Given the description of an element on the screen output the (x, y) to click on. 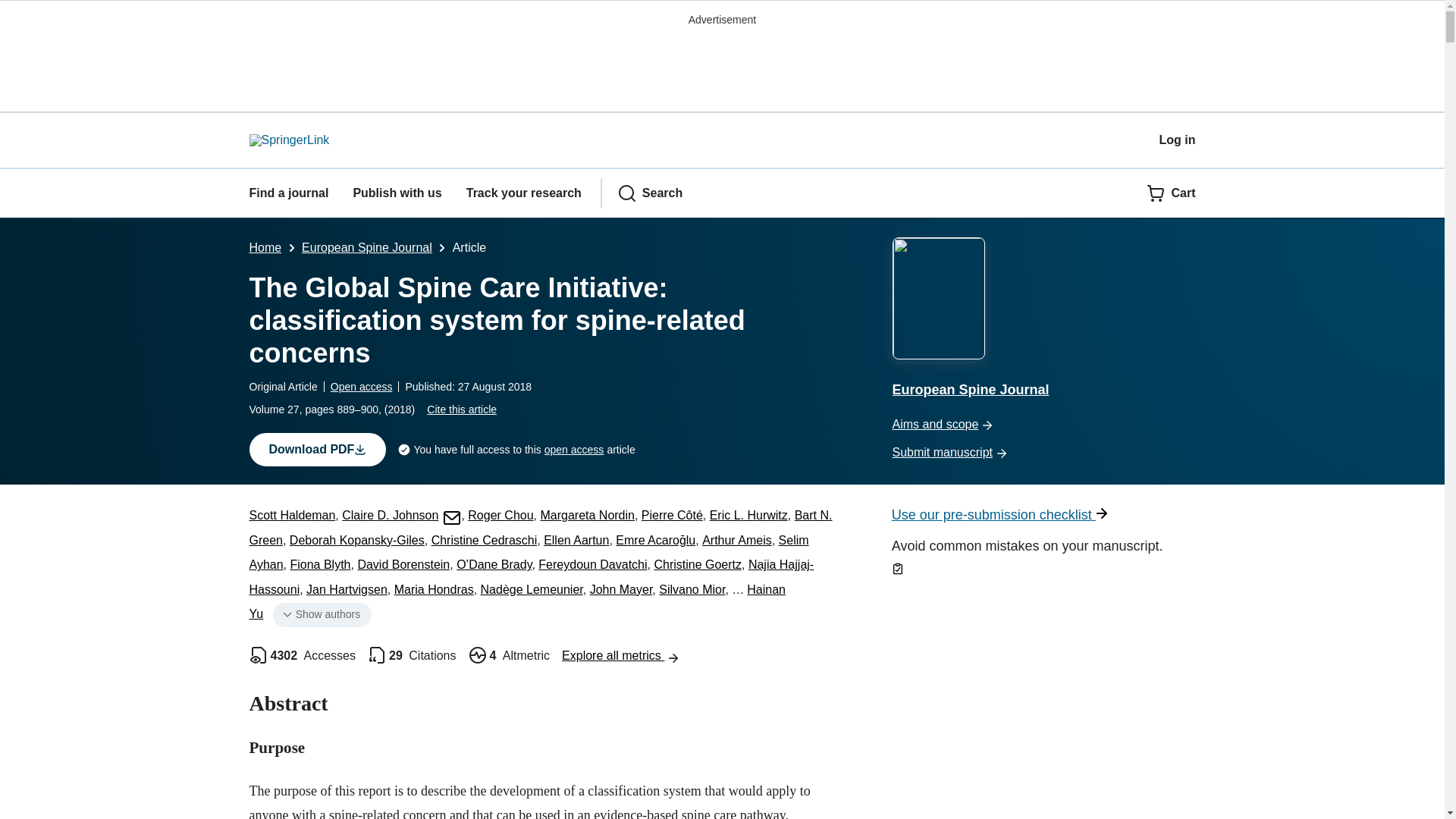
Cite this article (461, 409)
open access (574, 449)
European Spine Journal (366, 246)
Download PDF (316, 449)
Submit manuscript (1043, 453)
Aims and scope (1043, 424)
Find a journal (288, 192)
Margareta Nordin (587, 514)
Roger Chou (499, 514)
Publish with us (396, 192)
Scott Haldeman (291, 514)
European Spine Journal (1043, 319)
Track your research (524, 192)
Search (649, 192)
Claire D. Johnson (401, 514)
